Given the description of an element on the screen output the (x, y) to click on. 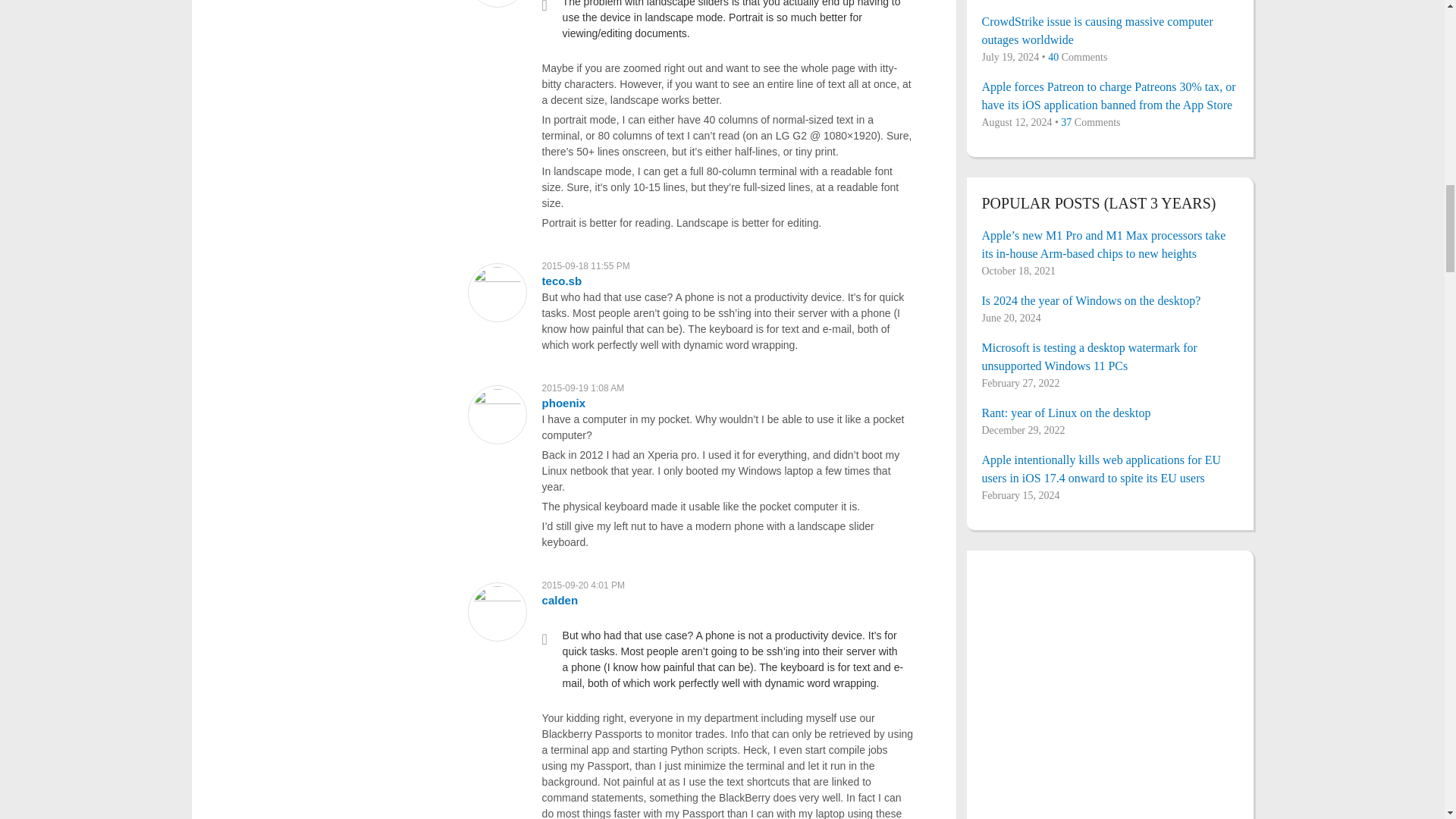
teco.sb (561, 280)
phoenix (563, 402)
calden (559, 599)
